Given the description of an element on the screen output the (x, y) to click on. 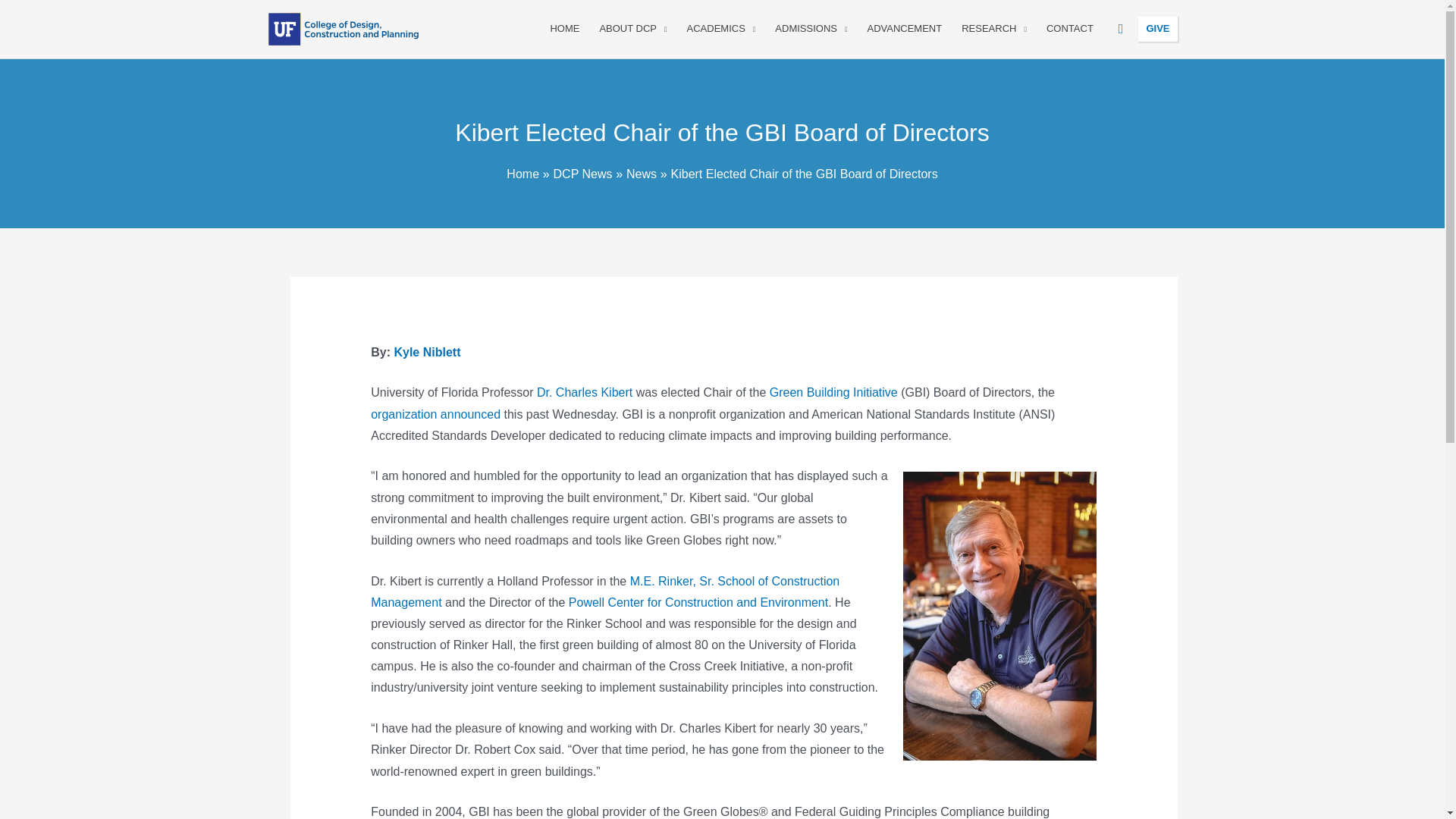
RESEARCH (994, 28)
ADVANCEMENT (904, 28)
ADMISSIONS (811, 28)
ABOUT DCP (633, 28)
ACADEMICS (721, 28)
HOME (564, 28)
